Given the description of an element on the screen output the (x, y) to click on. 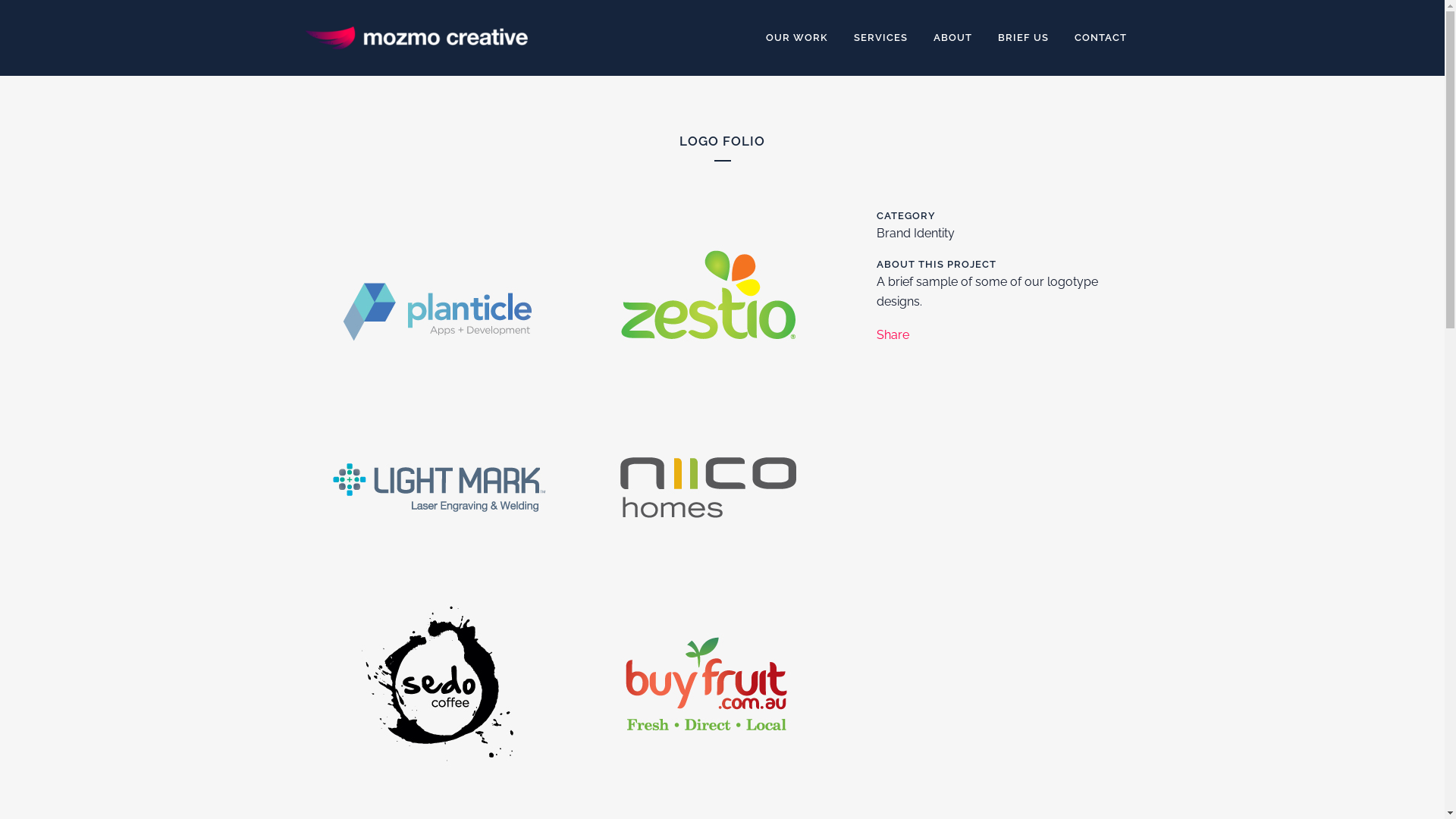
OUR WORK Element type: text (796, 37)
BRIEF US Element type: text (1022, 37)
Share Element type: text (892, 334)
ABOUT Element type: text (952, 37)
SERVICES Element type: text (879, 37)
CONTACT Element type: text (1100, 37)
